Given the description of an element on the screen output the (x, y) to click on. 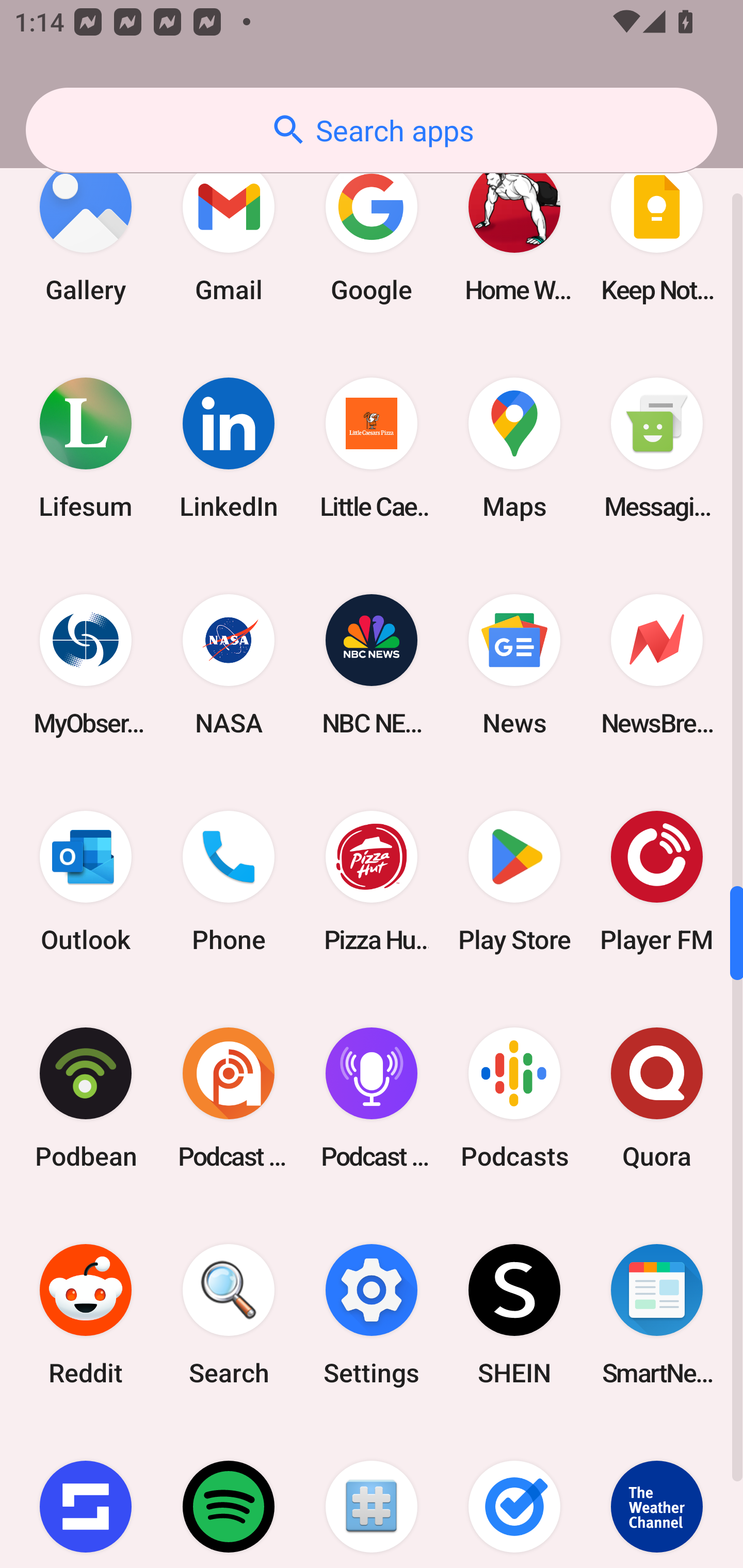
  Search apps (371, 130)
Gallery (85, 231)
Gmail (228, 231)
Google (371, 231)
Home Workout (514, 231)
Keep Notes (656, 231)
Lifesum (85, 448)
LinkedIn (228, 448)
Little Caesars Pizza (371, 448)
Maps (514, 448)
Messaging (656, 448)
MyObservatory (85, 664)
NASA (228, 664)
NBC NEWS (371, 664)
News (514, 664)
NewsBreak (656, 664)
Outlook (85, 881)
Phone (228, 881)
Pizza Hut HK & Macau (371, 881)
Play Store (514, 881)
Player FM (656, 881)
Podbean (85, 1097)
Podcast Addict (228, 1097)
Podcast Player (371, 1097)
Podcasts (514, 1097)
Quora (656, 1097)
Reddit (85, 1314)
Search (228, 1314)
Settings (371, 1314)
SHEIN (514, 1314)
SmartNews (656, 1314)
Sofascore (85, 1495)
Spotify (228, 1495)
Superuser (371, 1495)
Tasks (514, 1495)
The Weather Channel (656, 1495)
